Given the description of an element on the screen output the (x, y) to click on. 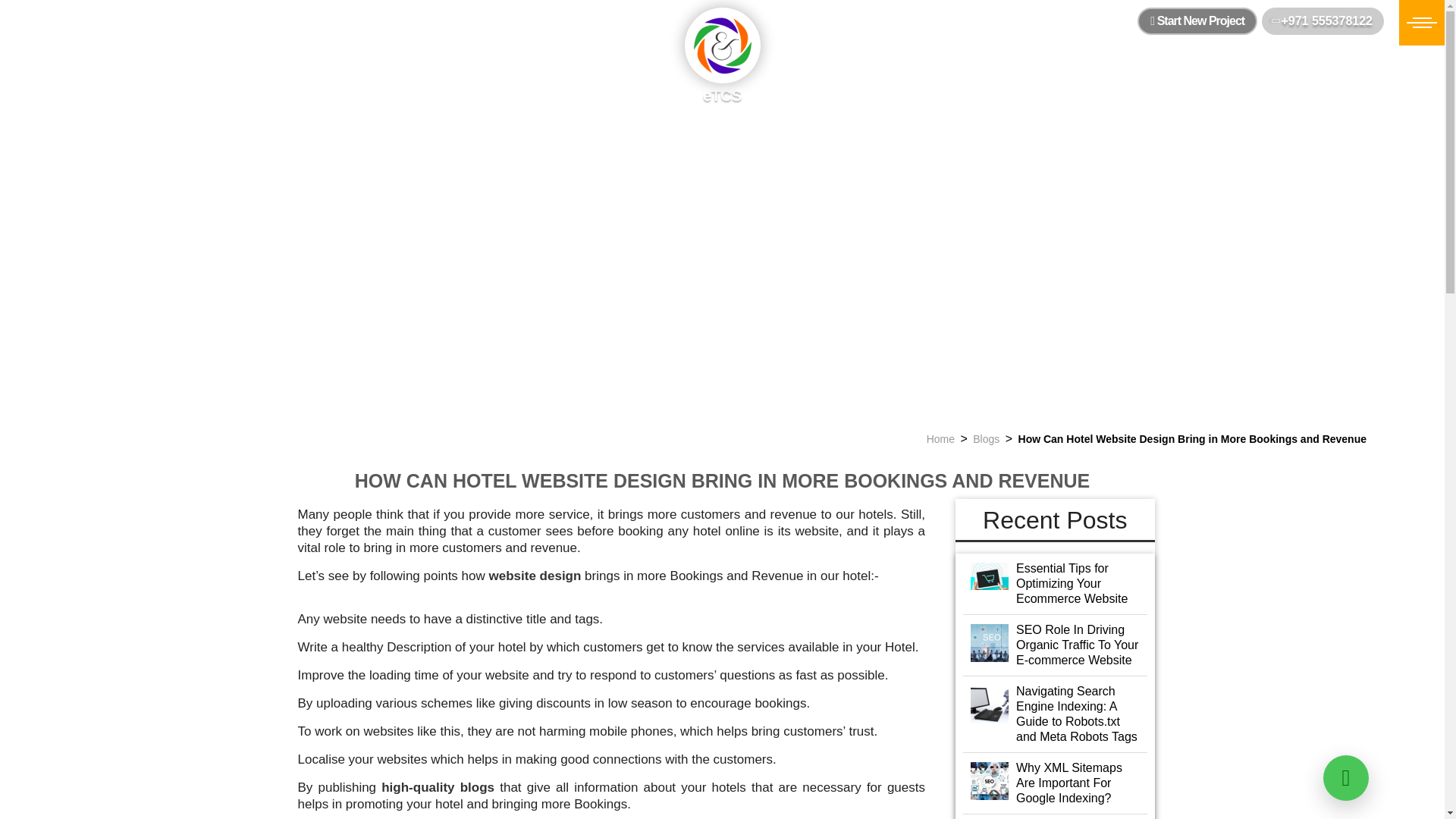
high-quality blogs (438, 787)
Website Design Dubai (534, 575)
Essential Tips for Optimizing Your Ecommerce Website (1055, 583)
Go to the Blogs category archives. (985, 439)
Go to Home (940, 439)
Blogs (985, 439)
Start New Project (1197, 21)
Why XML Sitemaps Are Important For Google Indexing? (1055, 782)
